Given the description of an element on the screen output the (x, y) to click on. 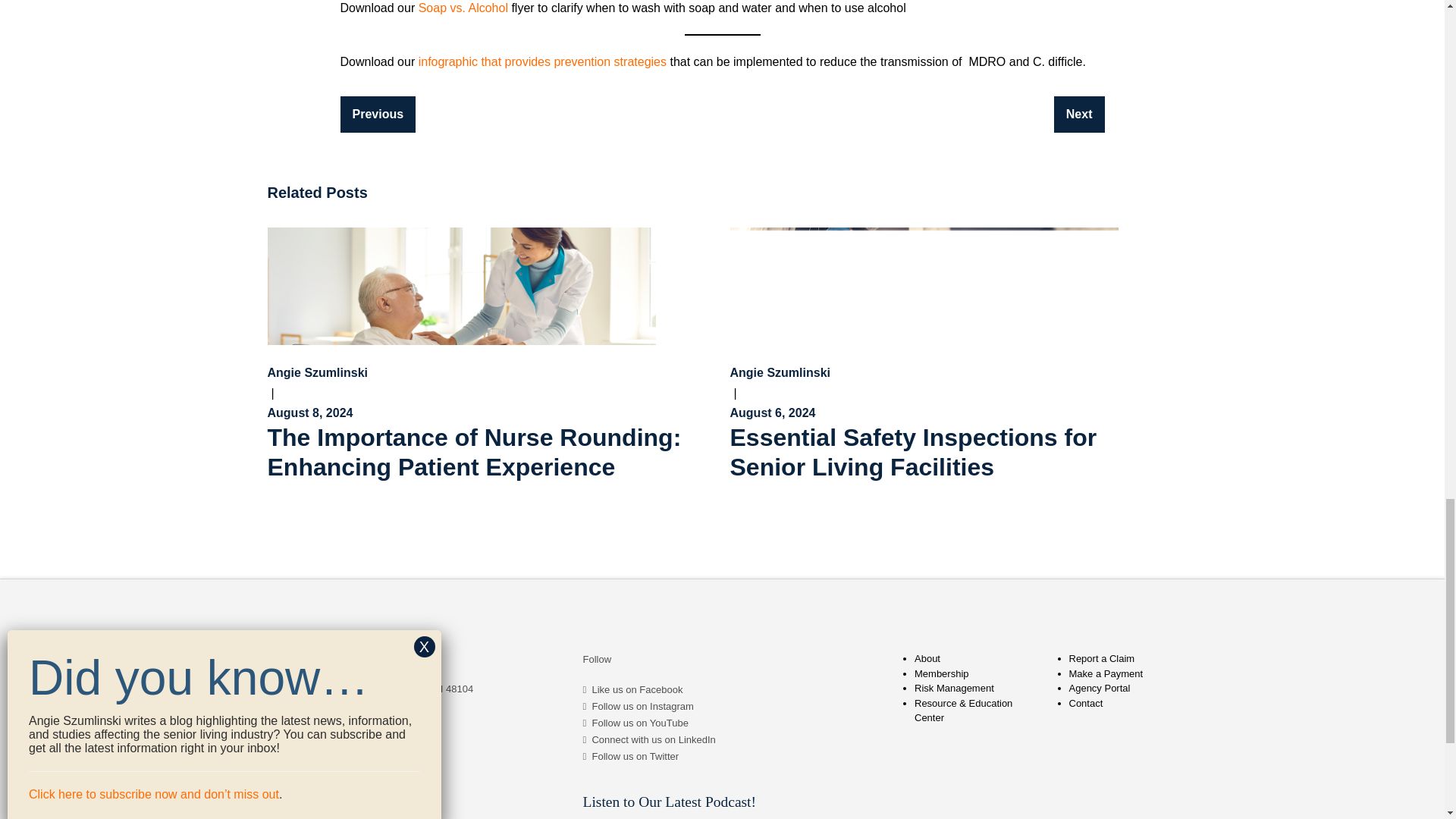
Like us on Facebook (636, 689)
Risk Management (954, 687)
Next (1079, 114)
Follow us on YouTube (639, 722)
877.855.4227 (296, 722)
infographic that provides prevention strategies (542, 61)
Follow us on Twitter (634, 756)
Membership (941, 673)
Connect with us on LinkedIn (652, 739)
Report a Claim (1101, 658)
